Given the description of an element on the screen output the (x, y) to click on. 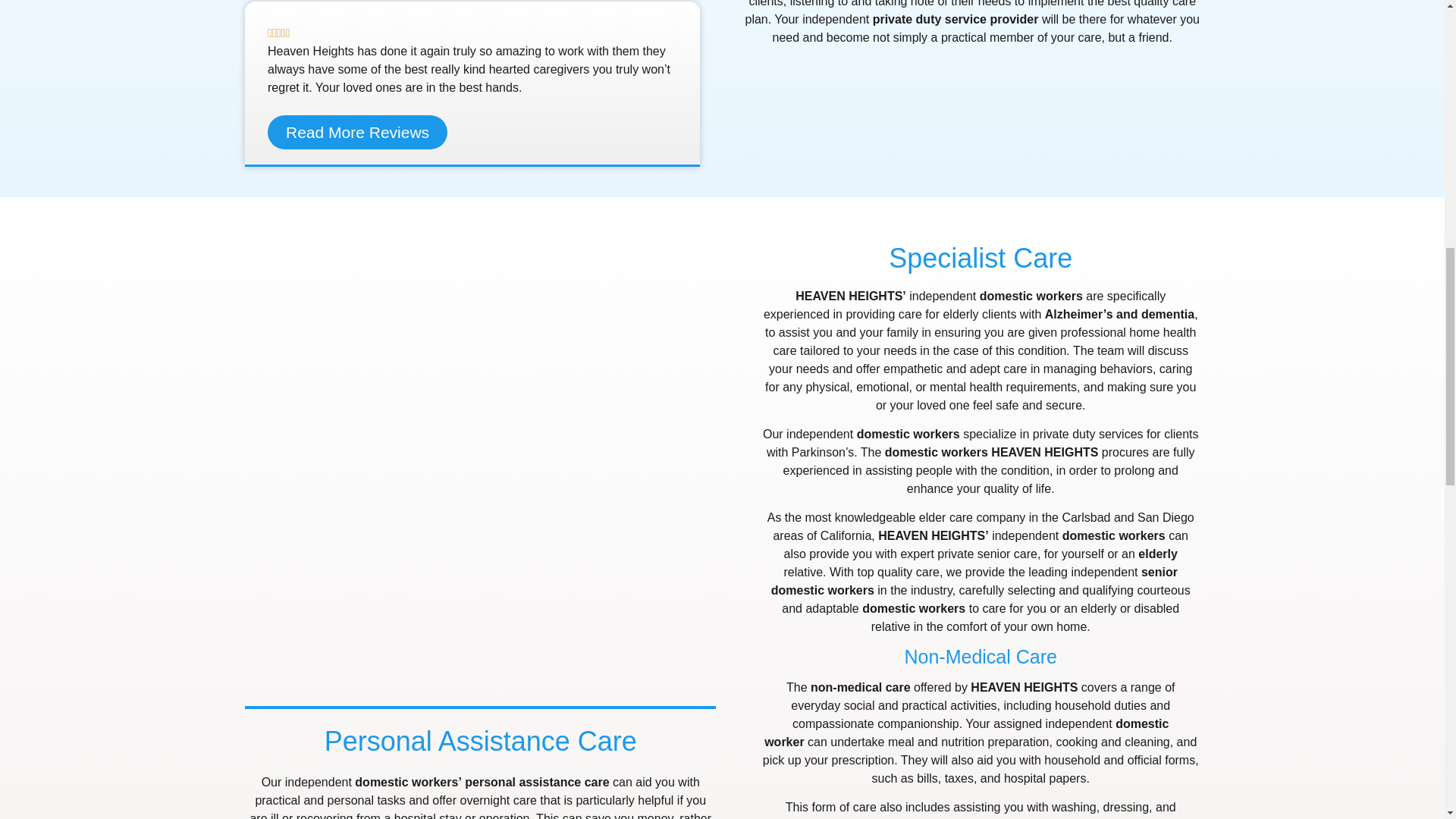
Read More Reviews (356, 132)
